Given the description of an element on the screen output the (x, y) to click on. 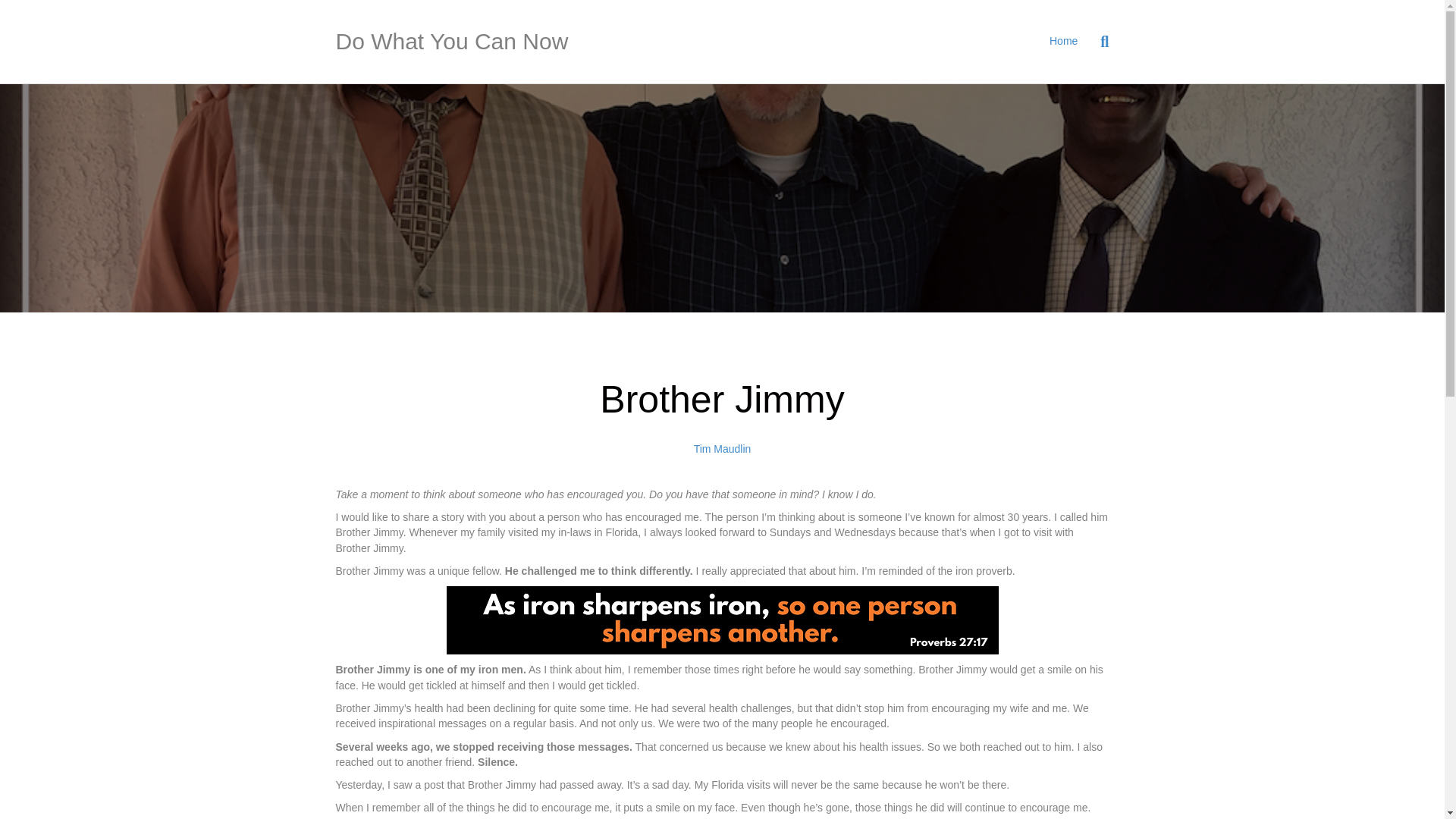
Do What You Can Now (457, 41)
Home (1063, 41)
Tim Maudlin (722, 449)
